Given the description of an element on the screen output the (x, y) to click on. 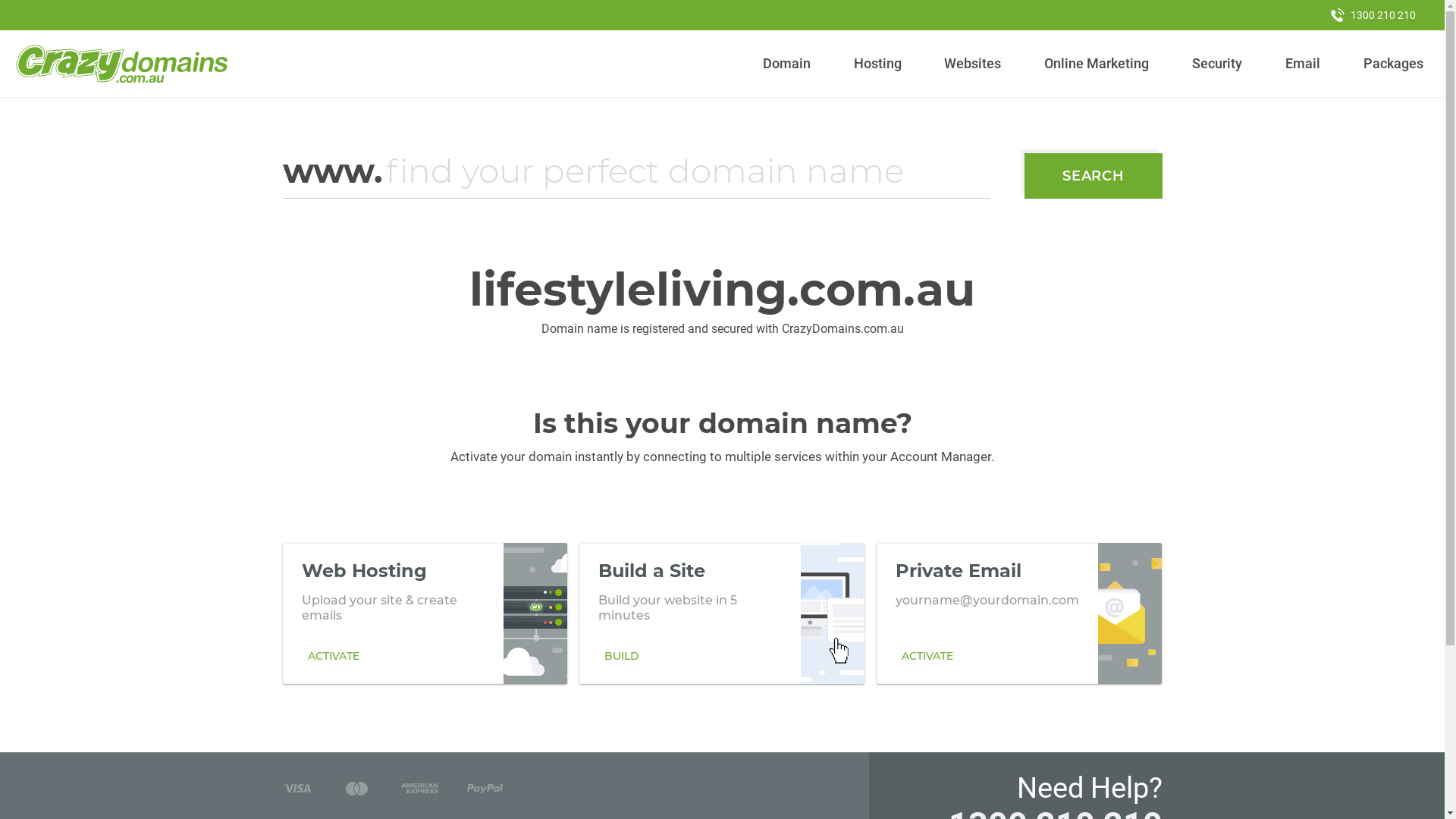
Build a Site
Build your website in 5 minutes
BUILD Element type: text (721, 613)
1300 210 210 Element type: text (1373, 15)
Hosting Element type: text (877, 63)
Domain Element type: text (786, 63)
Web Hosting
Upload your site & create emails
ACTIVATE Element type: text (424, 613)
Online Marketing Element type: text (1096, 63)
Security Element type: text (1217, 63)
Packages Element type: text (1392, 63)
Websites Element type: text (972, 63)
Email Element type: text (1302, 63)
Private Email
yourname@yourdomain.com
ACTIVATE Element type: text (1018, 613)
SEARCH Element type: text (1092, 175)
